Given the description of an element on the screen output the (x, y) to click on. 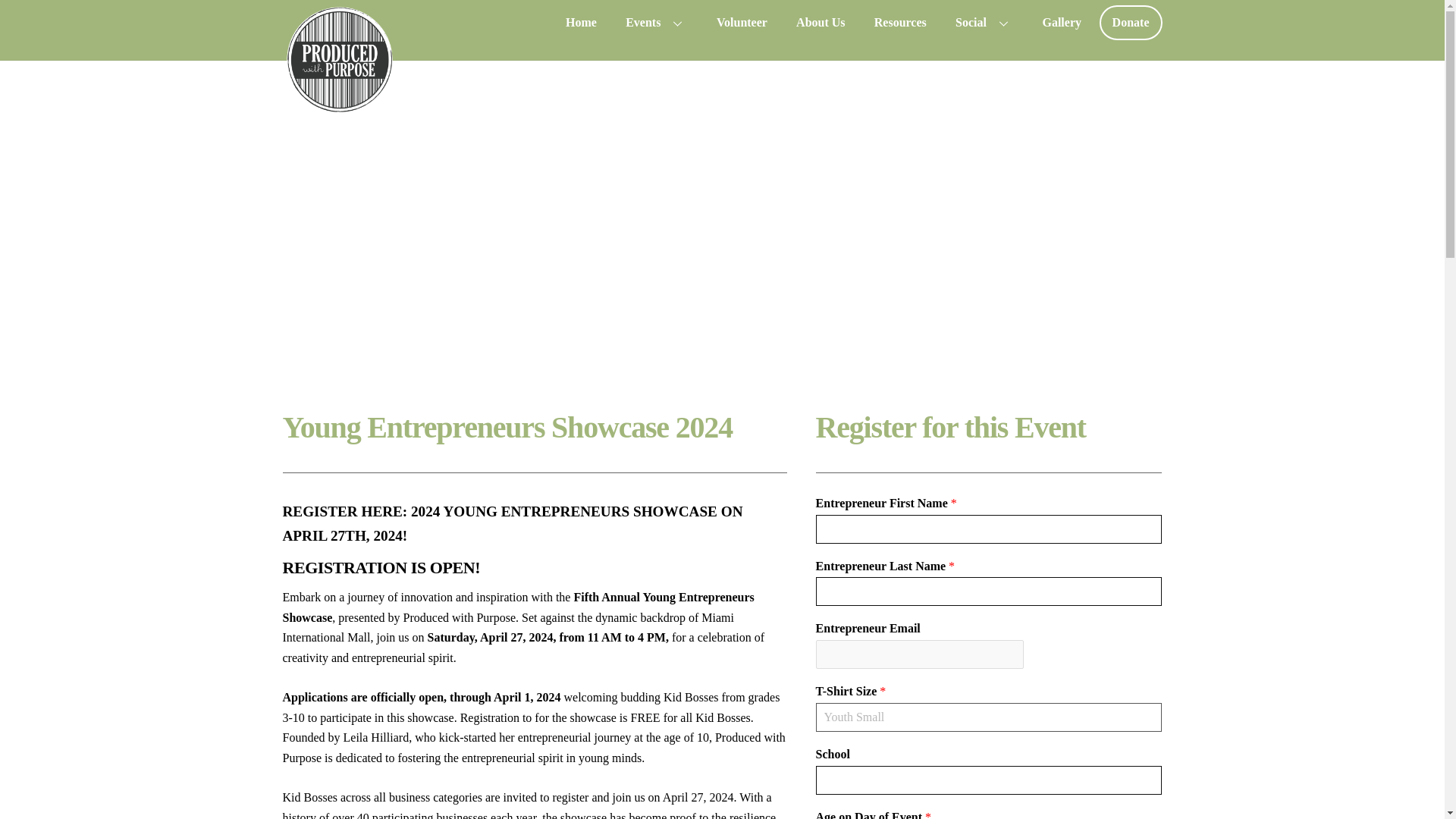
About Us (821, 22)
Gallery (1062, 22)
Social (983, 22)
Produced With Purpose (339, 107)
Volunteer (741, 22)
Donate (1130, 22)
Home (580, 22)
logo (339, 59)
Resources (899, 22)
